Given the description of an element on the screen output the (x, y) to click on. 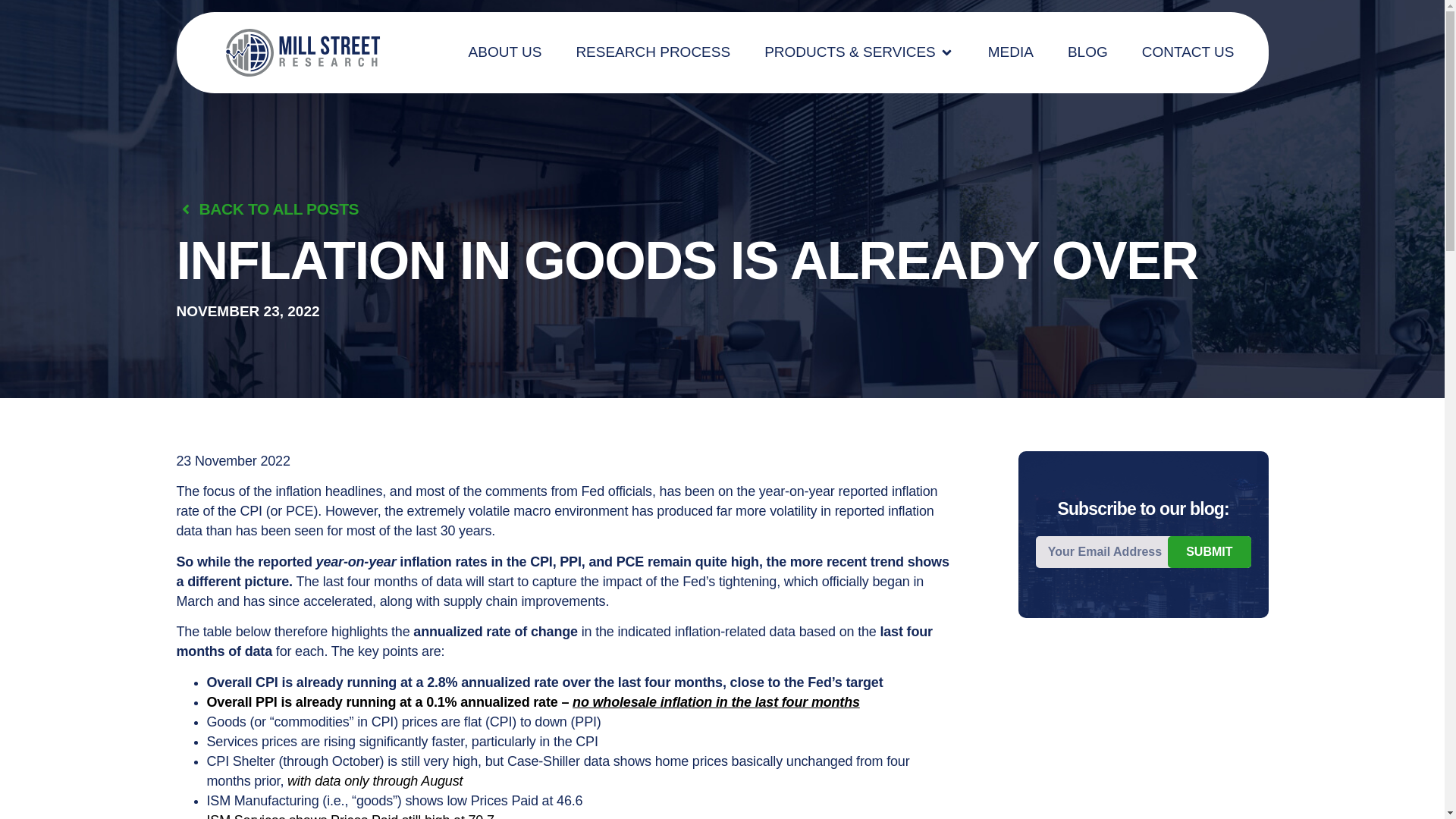
CONTACT US (1187, 52)
BLOG (1087, 52)
SUBMIT (1208, 551)
BACK TO ALL POSTS (267, 209)
MEDIA (1010, 52)
ABOUT US (504, 52)
RESEARCH PROCESS (652, 52)
